Given the description of an element on the screen output the (x, y) to click on. 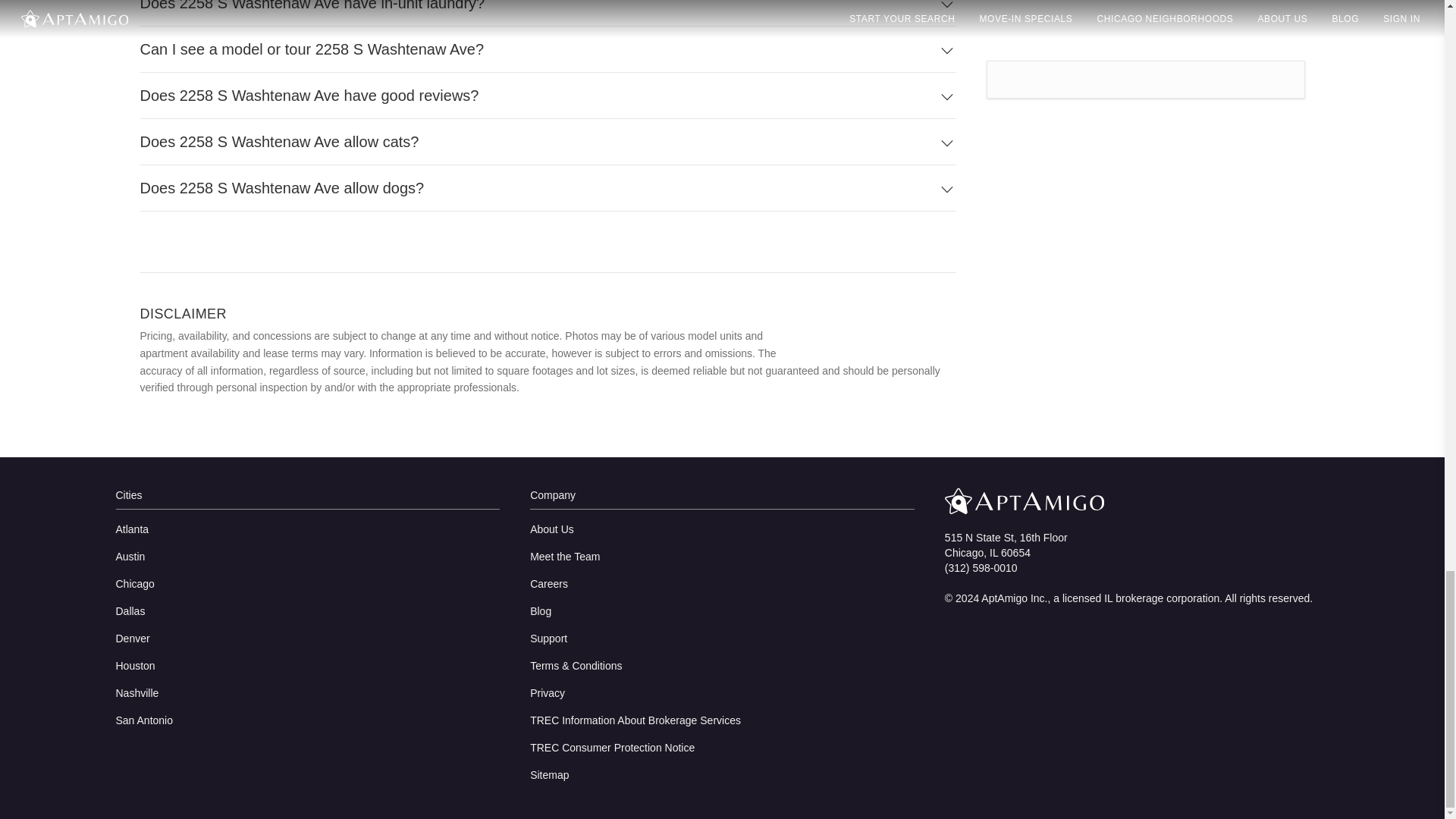
Does 2258 S Washtenaw Ave allow dogs? (547, 188)
Dallas (307, 610)
Chicago (307, 583)
Nashville (307, 692)
Can I see a model or tour 2258 S Washtenaw Ave? (547, 49)
Houston (307, 665)
Austin (307, 556)
Denver (307, 637)
Does 2258 S Washtenaw Ave have good reviews? (547, 95)
Does 2258 S Washtenaw Ave allow cats? (547, 141)
